Given the description of an element on the screen output the (x, y) to click on. 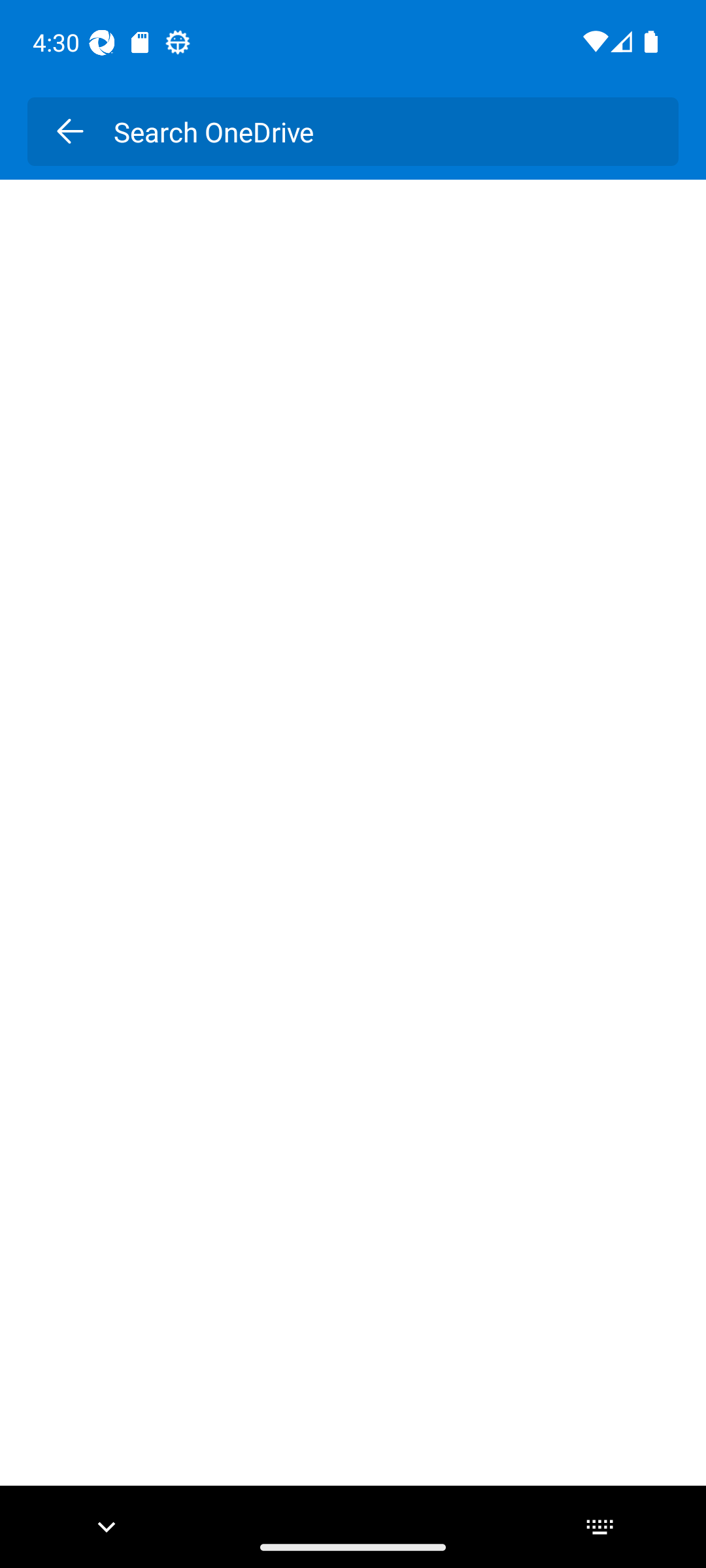
Navigate Up (69, 131)
Search OneDrive (382, 131)
